Given the description of an element on the screen output the (x, y) to click on. 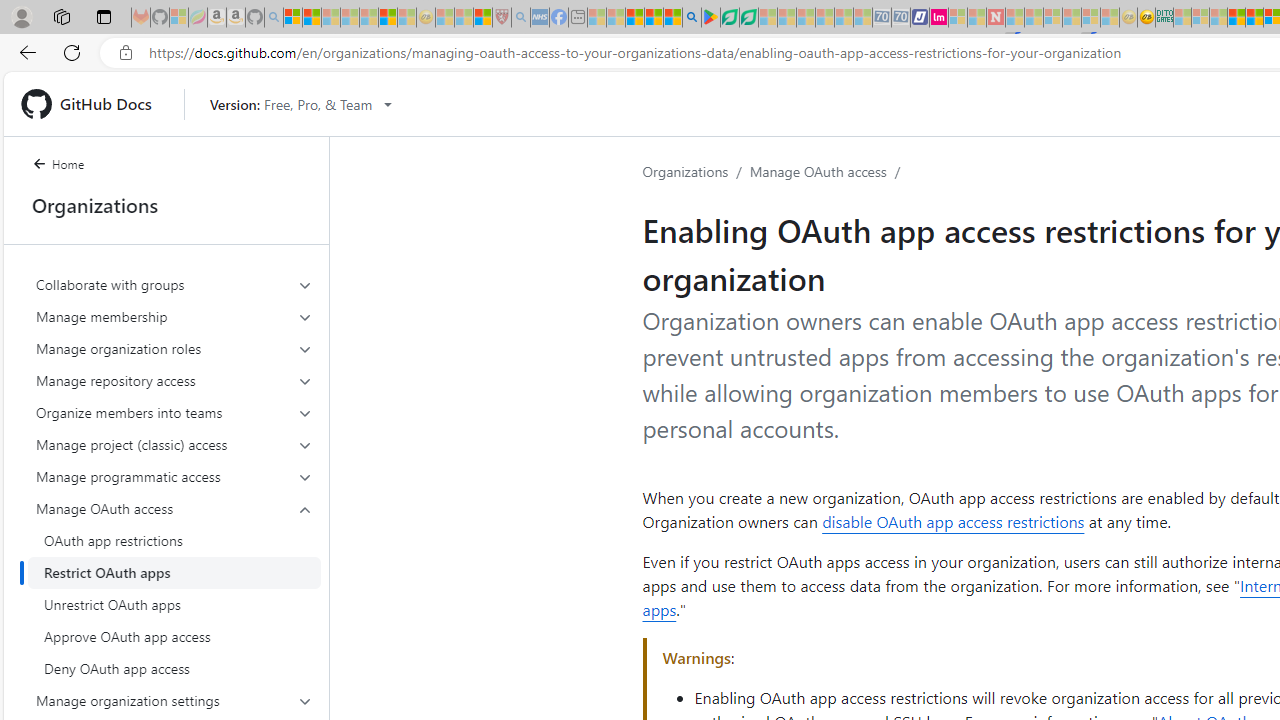
Manage programmatic access (174, 476)
Manage OAuth access (174, 508)
Manage repository access (174, 380)
Kinda Frugal - MSN (1254, 17)
OAuth app restrictions (174, 540)
Collaborate with groups (174, 284)
Manage OAuth access (174, 588)
Organizations/ (696, 171)
Manage organization settings (174, 700)
